Given the description of an element on the screen output the (x, y) to click on. 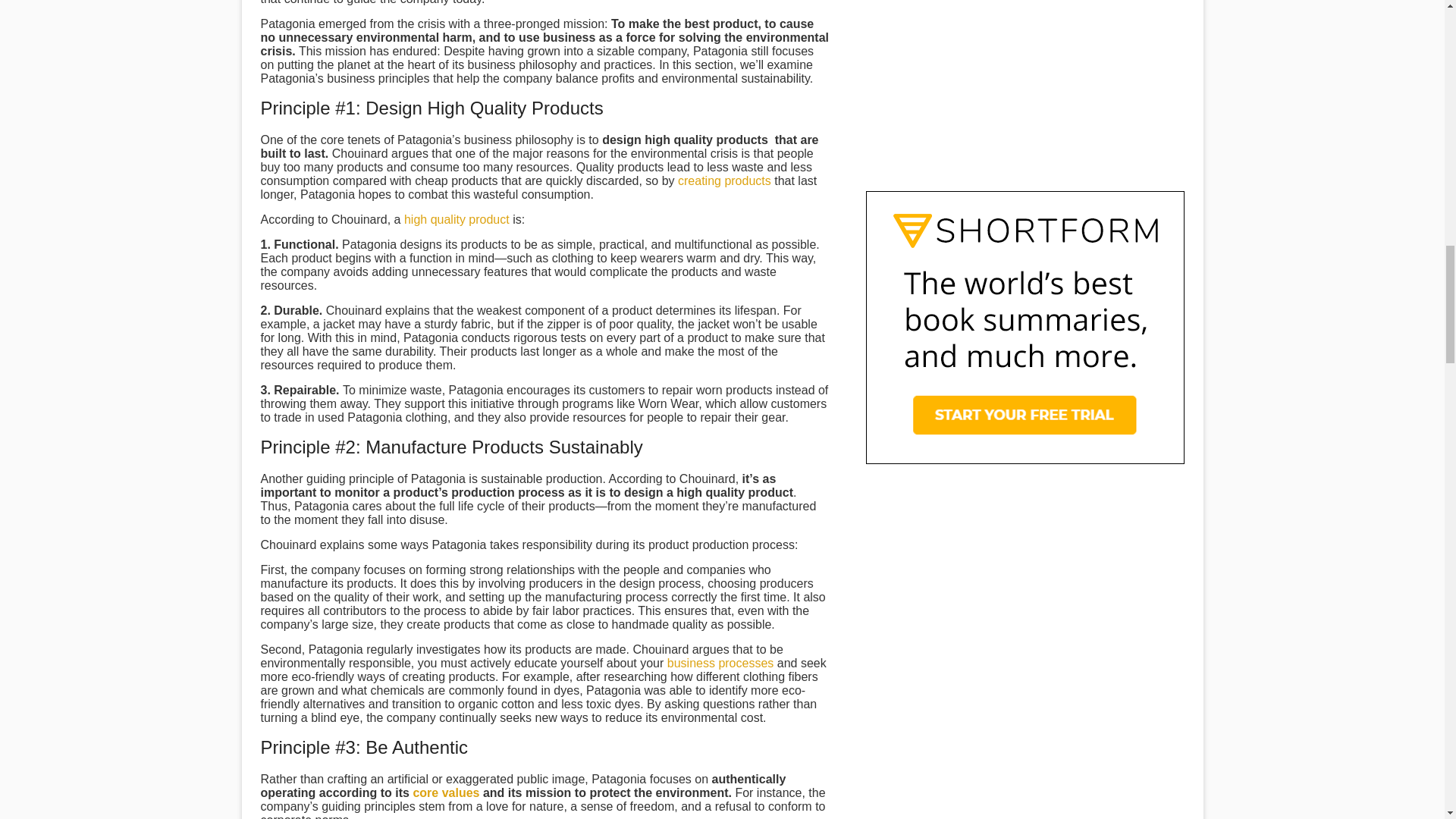
business processes (720, 662)
high quality product (456, 219)
creating products (724, 180)
core values (445, 792)
